Given the description of an element on the screen output the (x, y) to click on. 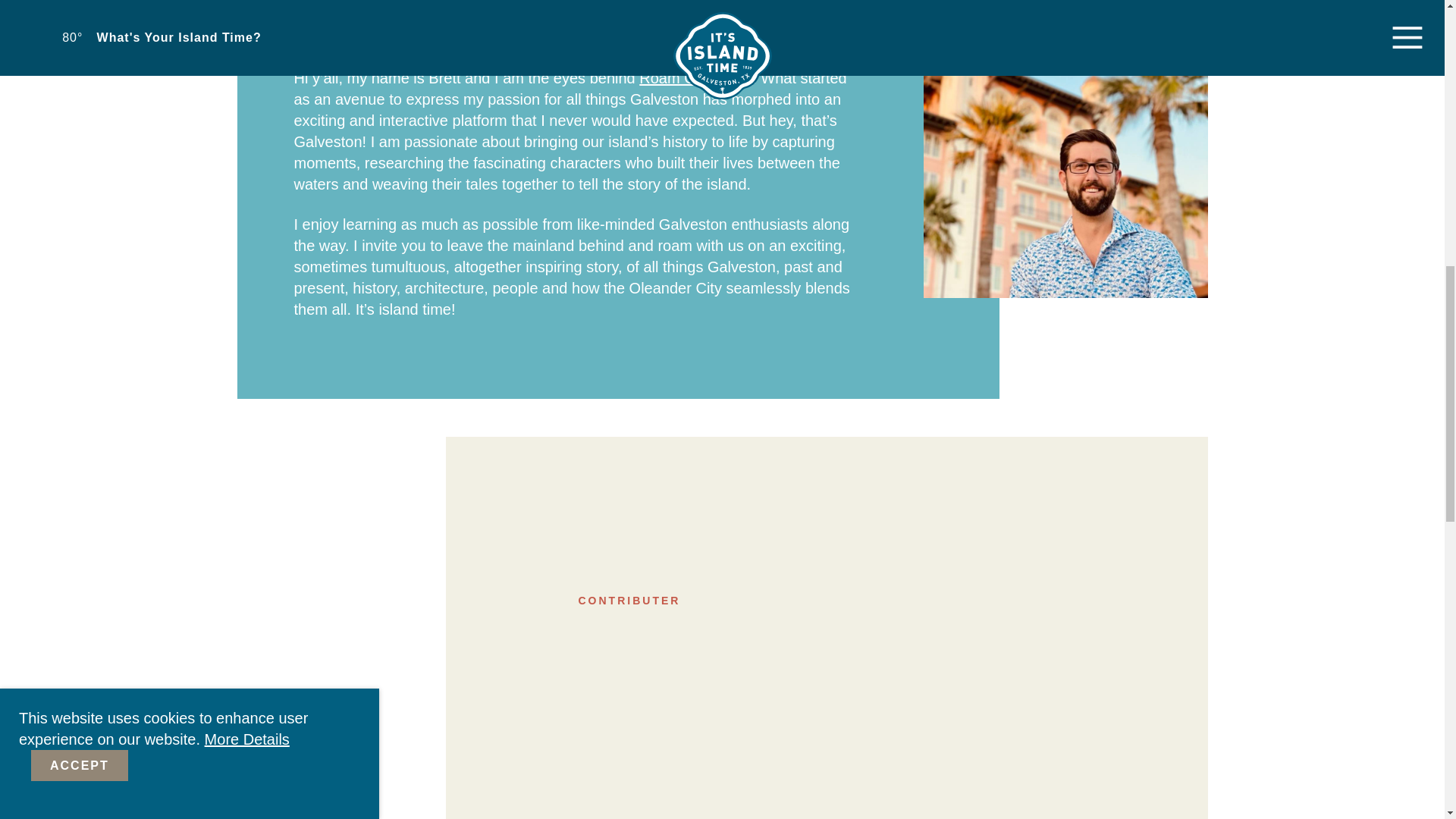
Roam Galveston (695, 77)
